Given the description of an element on the screen output the (x, y) to click on. 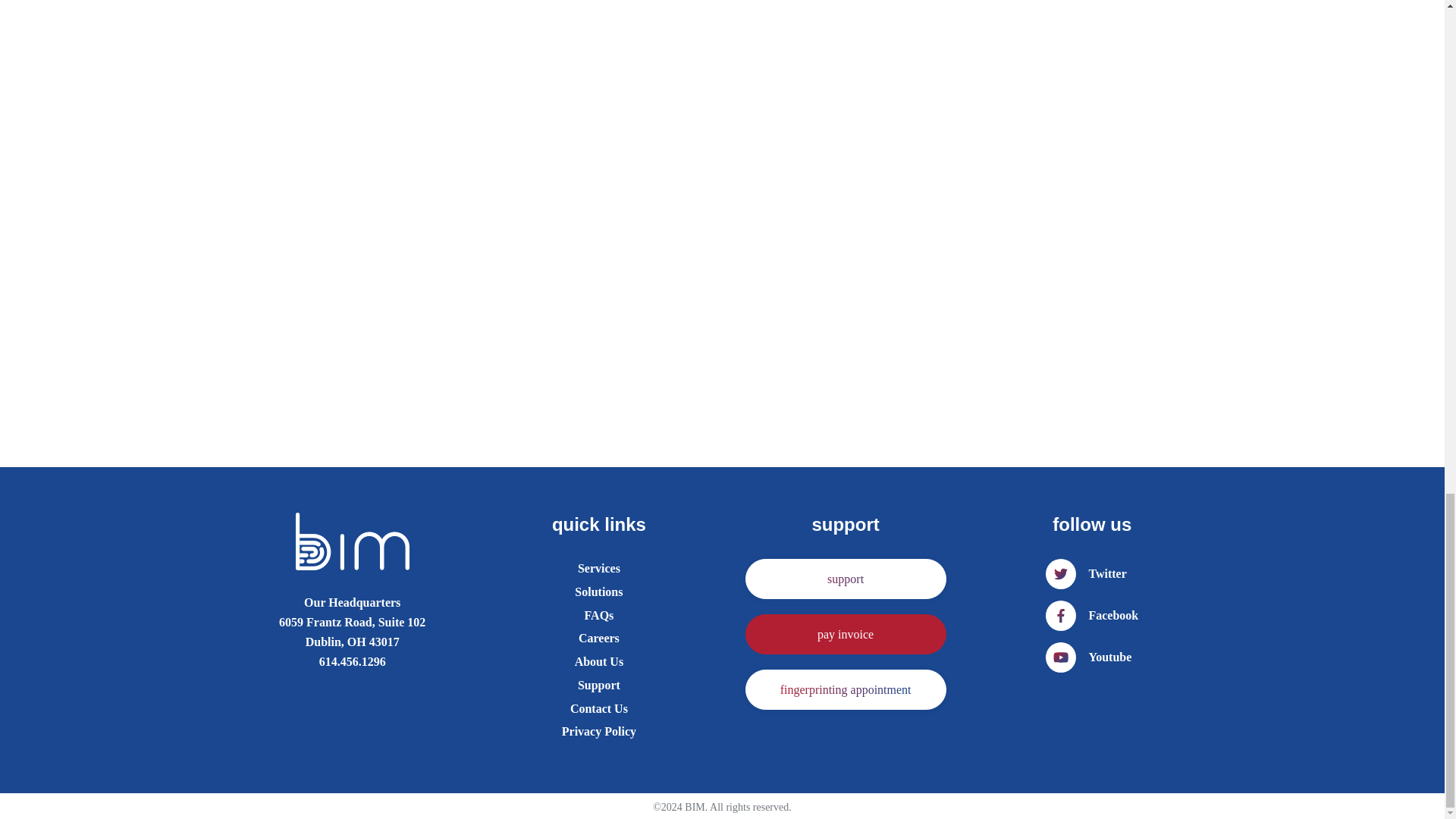
About Us (599, 661)
614.456.1296 (351, 660)
pay invoice (845, 634)
Contact Us (598, 709)
Facebook (1091, 615)
Twitter (1085, 573)
Privacy Policy (599, 731)
Careers (599, 638)
Solutions (599, 591)
fingerprinting appointment (845, 689)
